Given the description of an element on the screen output the (x, y) to click on. 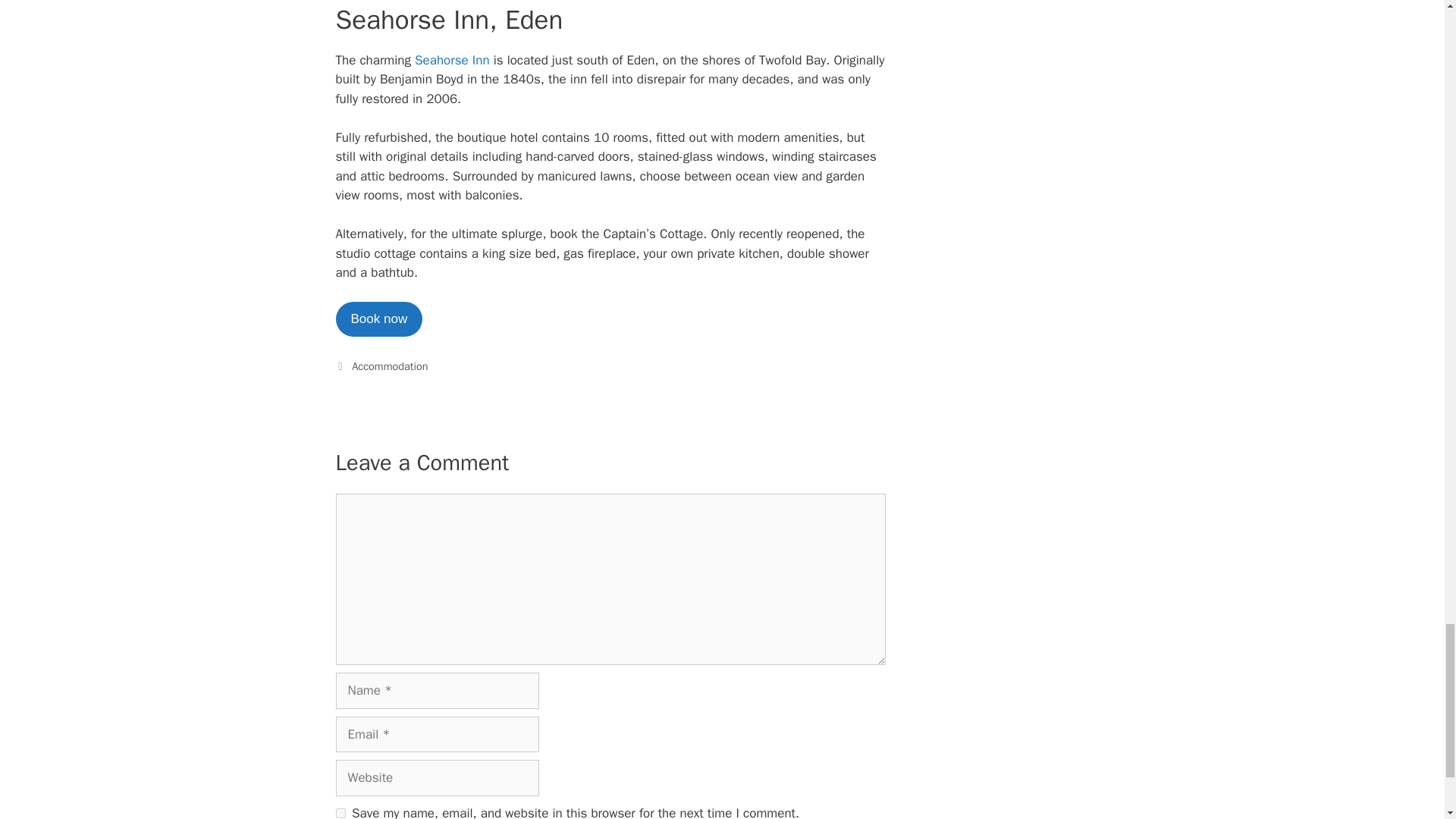
Seahorse Inn (451, 59)
Book now (378, 319)
yes (339, 813)
Accommodation (390, 366)
